Given the description of an element on the screen output the (x, y) to click on. 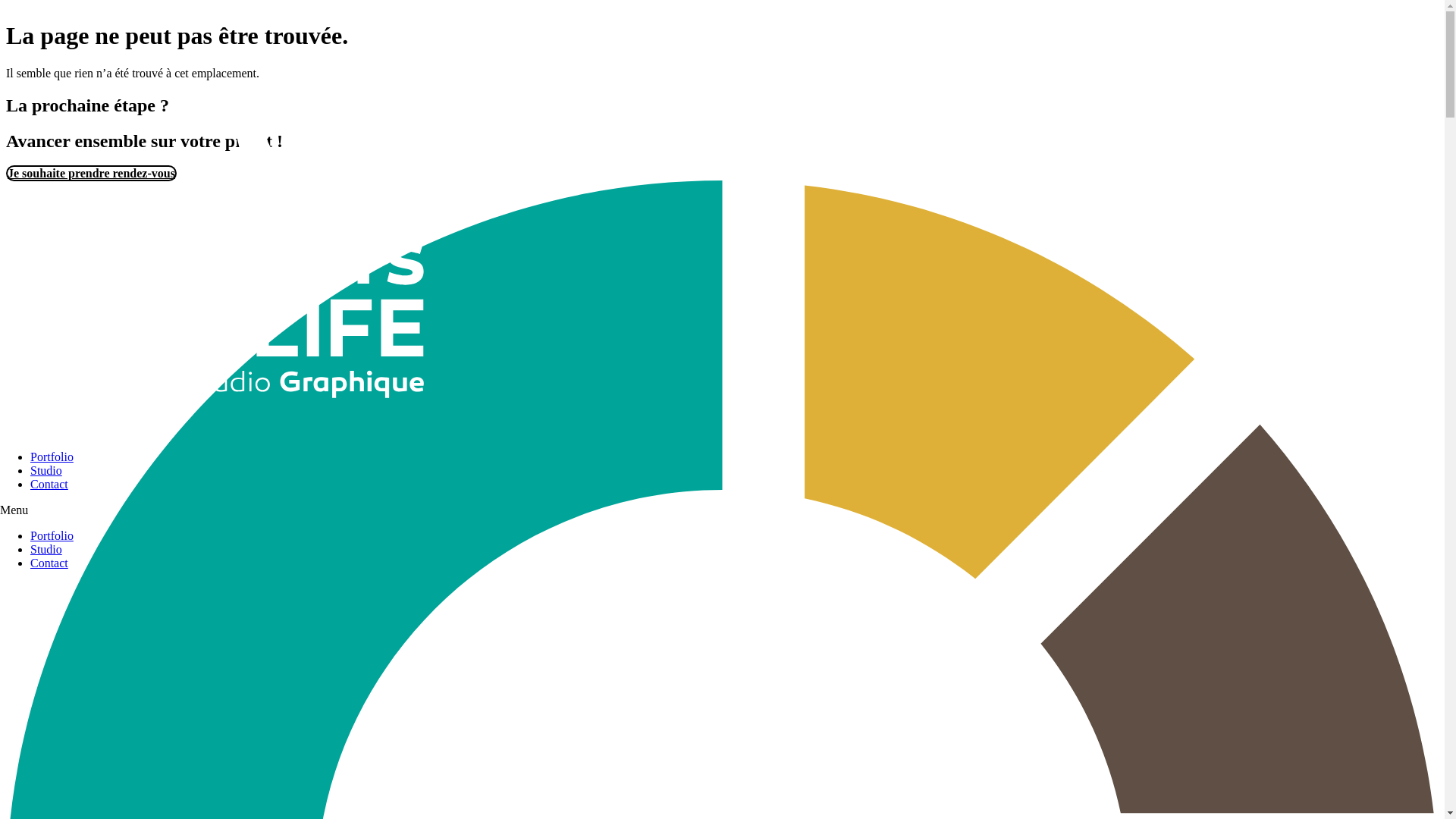
Studio Element type: text (46, 548)
Portfolio Element type: text (51, 456)
Contact Element type: text (49, 562)
Studio Element type: text (46, 470)
Portfolio Element type: text (51, 535)
Contact Element type: text (49, 483)
Je souhaite prendre rendez-vous Element type: text (91, 173)
